Given the description of an element on the screen output the (x, y) to click on. 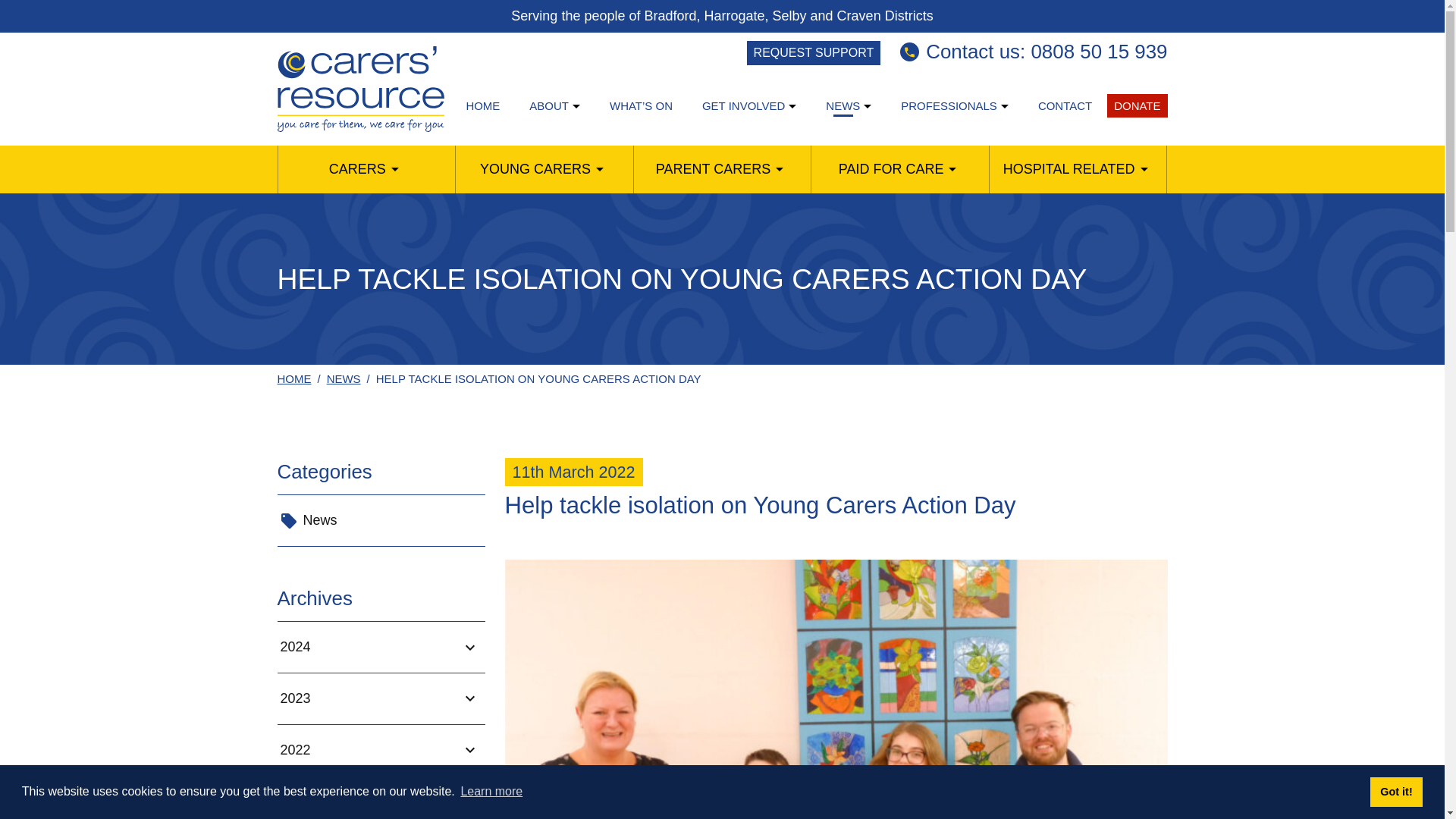
CONTACT (1065, 106)
Learn more (491, 791)
HOME (482, 106)
ABOUT (549, 106)
Got it! (1396, 791)
PROFESSIONALS (949, 106)
NEWS (842, 106)
DONATE (1136, 105)
GET INVOLVED (742, 106)
CARERS (357, 169)
Contact us: 0808 50 15 939 (1033, 51)
REQUEST SUPPORT (813, 53)
